Given the description of an element on the screen output the (x, y) to click on. 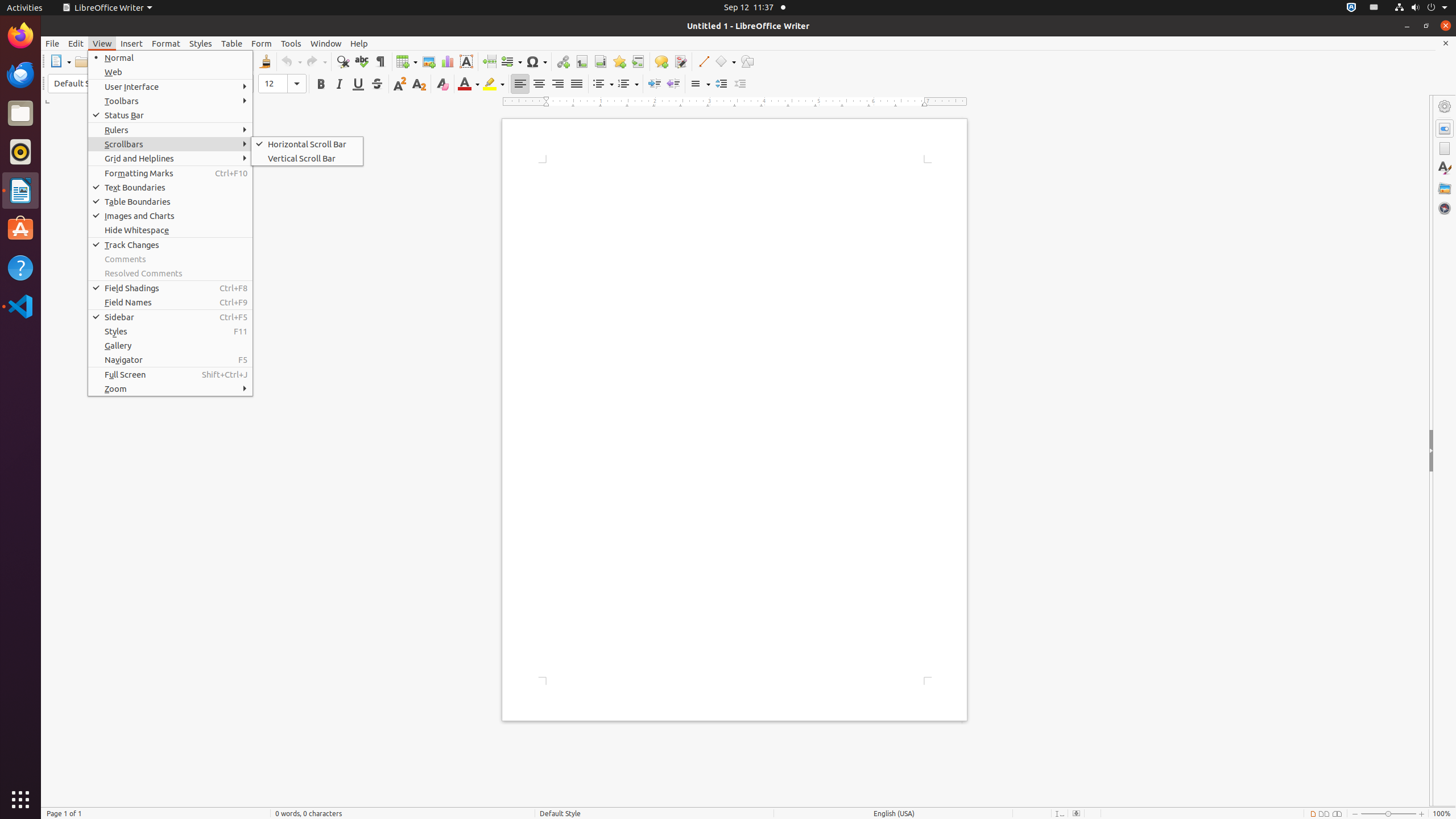
Chart Element type: push-button (446, 61)
Gallery Element type: menu-item (170, 345)
Comments Element type: menu-item (170, 258)
Ubuntu Software Element type: push-button (20, 229)
Clone Element type: push-button (264, 61)
